Given the description of an element on the screen output the (x, y) to click on. 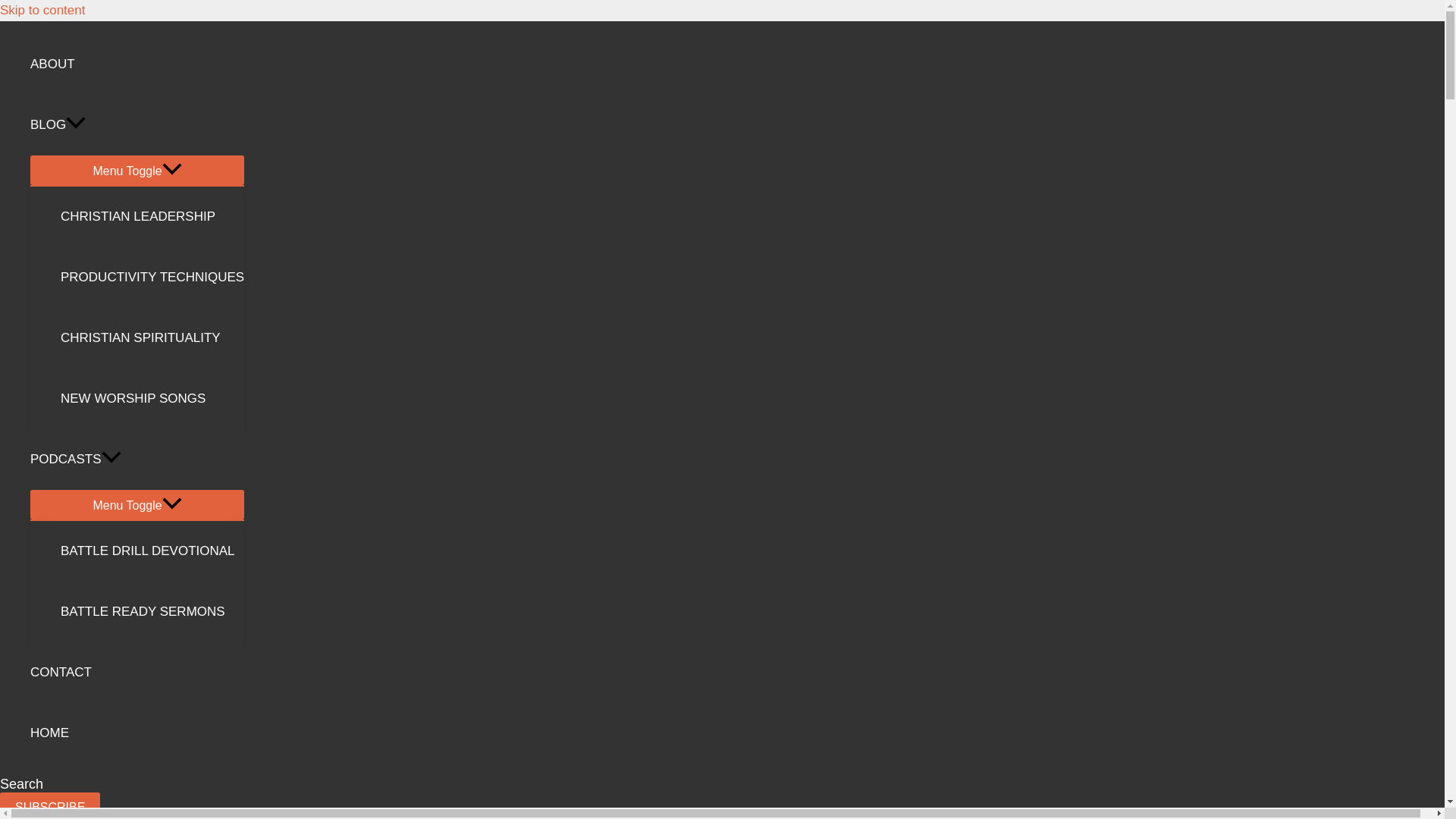
HOME (137, 732)
Skip to content (42, 10)
Skip to content (42, 10)
ABOUT (137, 64)
PODCASTS (137, 459)
PRODUCTIVITY TECHNIQUES (152, 277)
Search (21, 784)
BATTLE DRILL DEVOTIONAL (152, 550)
View all posts by Rob Westwood-Payne (123, 160)
